Given the description of an element on the screen output the (x, y) to click on. 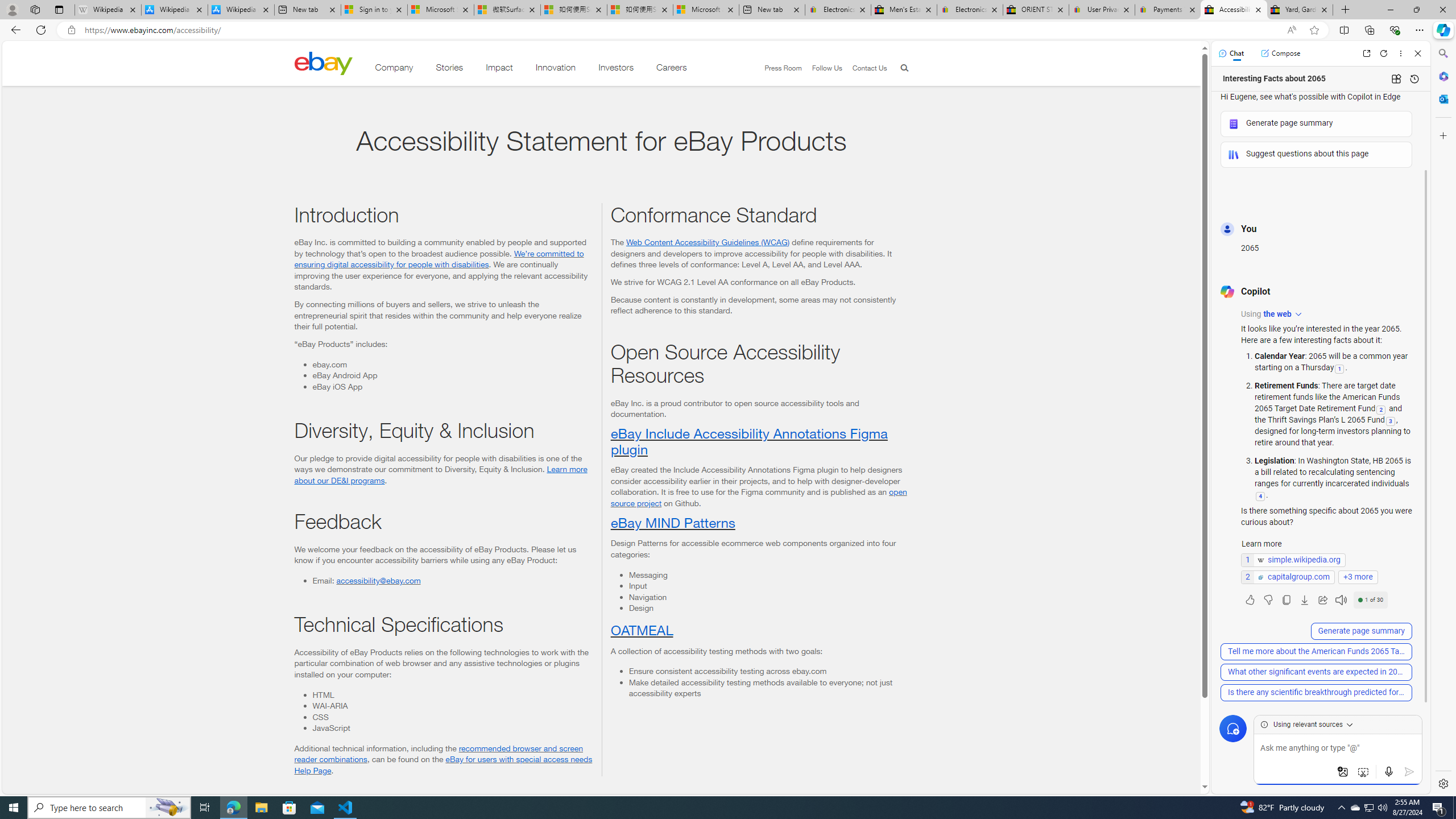
OATMEAL (641, 629)
Company (393, 69)
CSS (451, 716)
Follow Us (821, 68)
Impact (499, 69)
JavaScript (451, 727)
Microsoft account | Account Checkup (706, 9)
eBay iOS App (451, 386)
Class: desktop (323, 63)
